Given the description of an element on the screen output the (x, y) to click on. 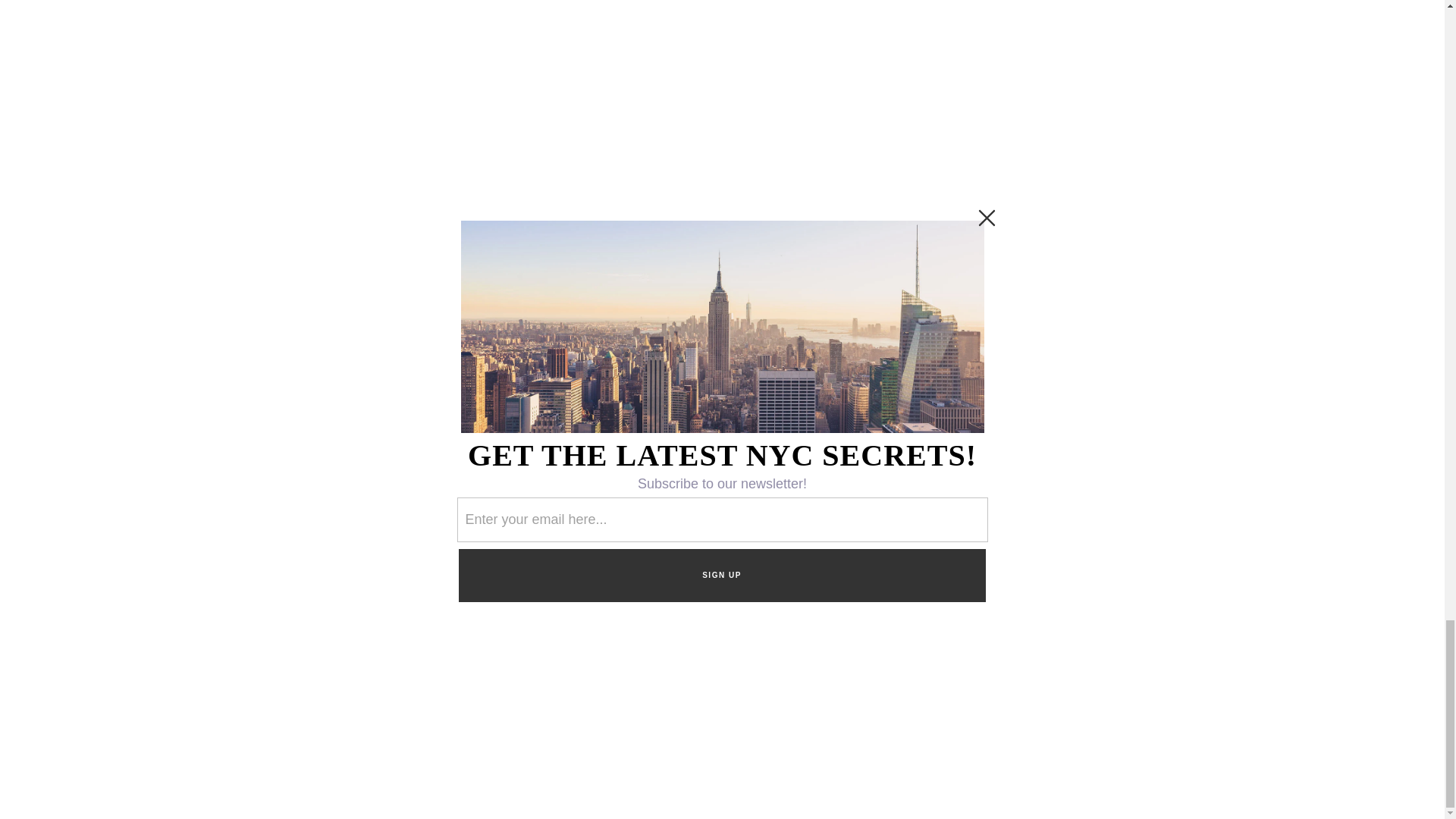
7cff6a70fd (1024, 307)
e99a09560c (984, 307)
Sign up (1023, 349)
